Given the description of an element on the screen output the (x, y) to click on. 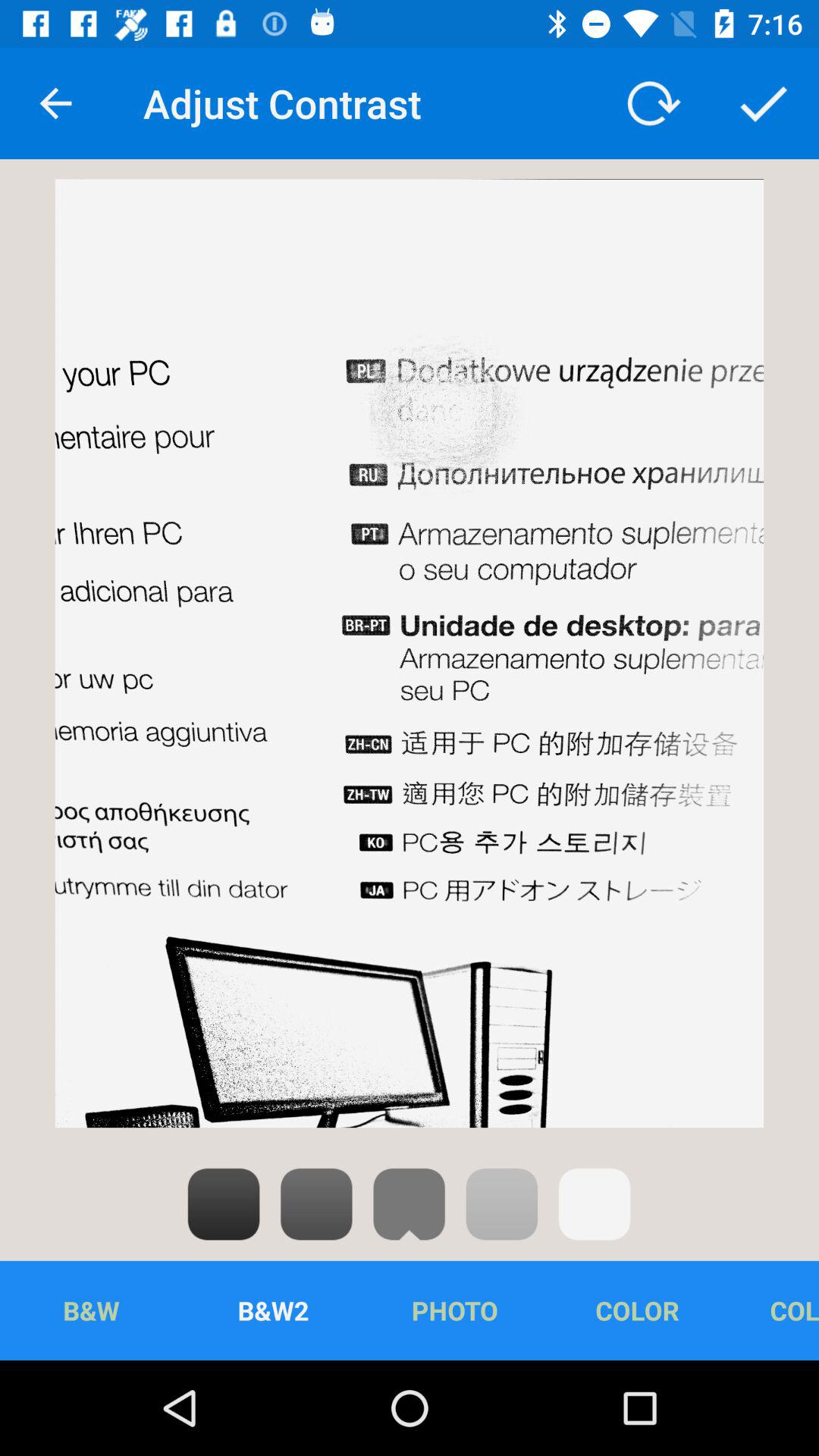
press icon to the left of the adjust contrast (55, 103)
